Given the description of an element on the screen output the (x, y) to click on. 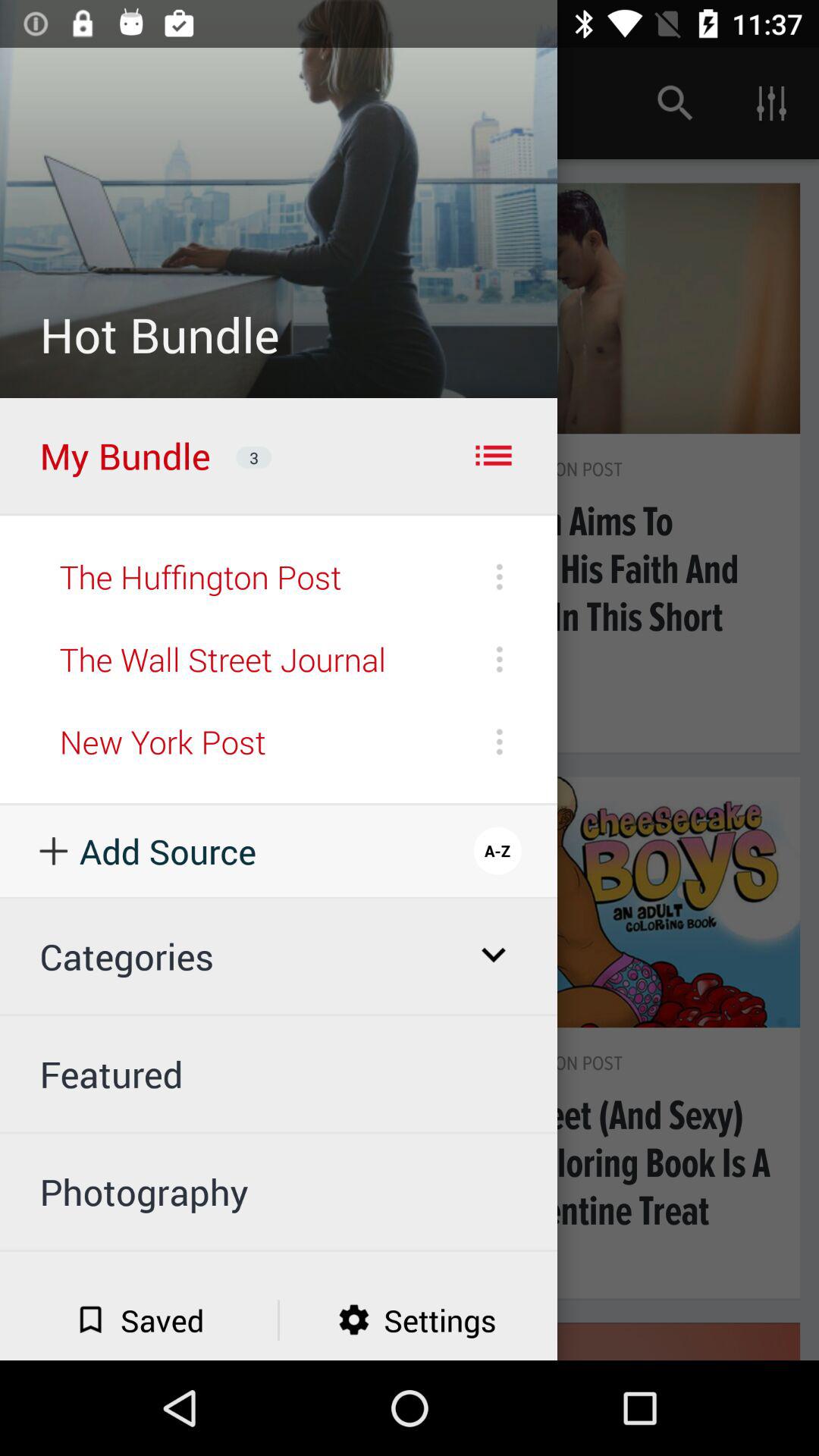
click on icon which is right to text the wall street journal (499, 659)
select settings which is at the bottom of the page (418, 1319)
click on the right side of icon in the bounding box (771, 103)
